Given the description of an element on the screen output the (x, y) to click on. 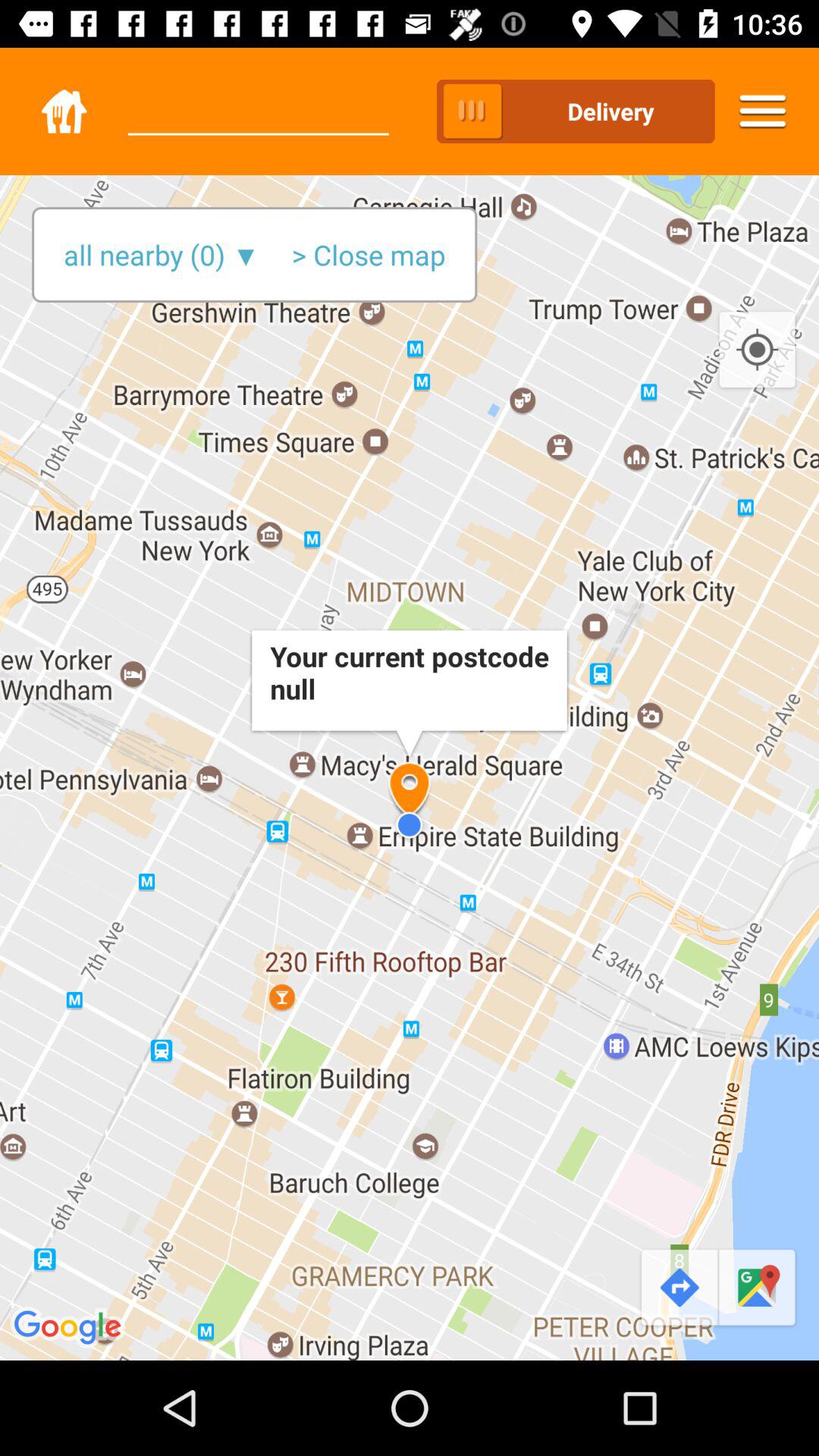
tap item next to pickup item (258, 98)
